Given the description of an element on the screen output the (x, y) to click on. 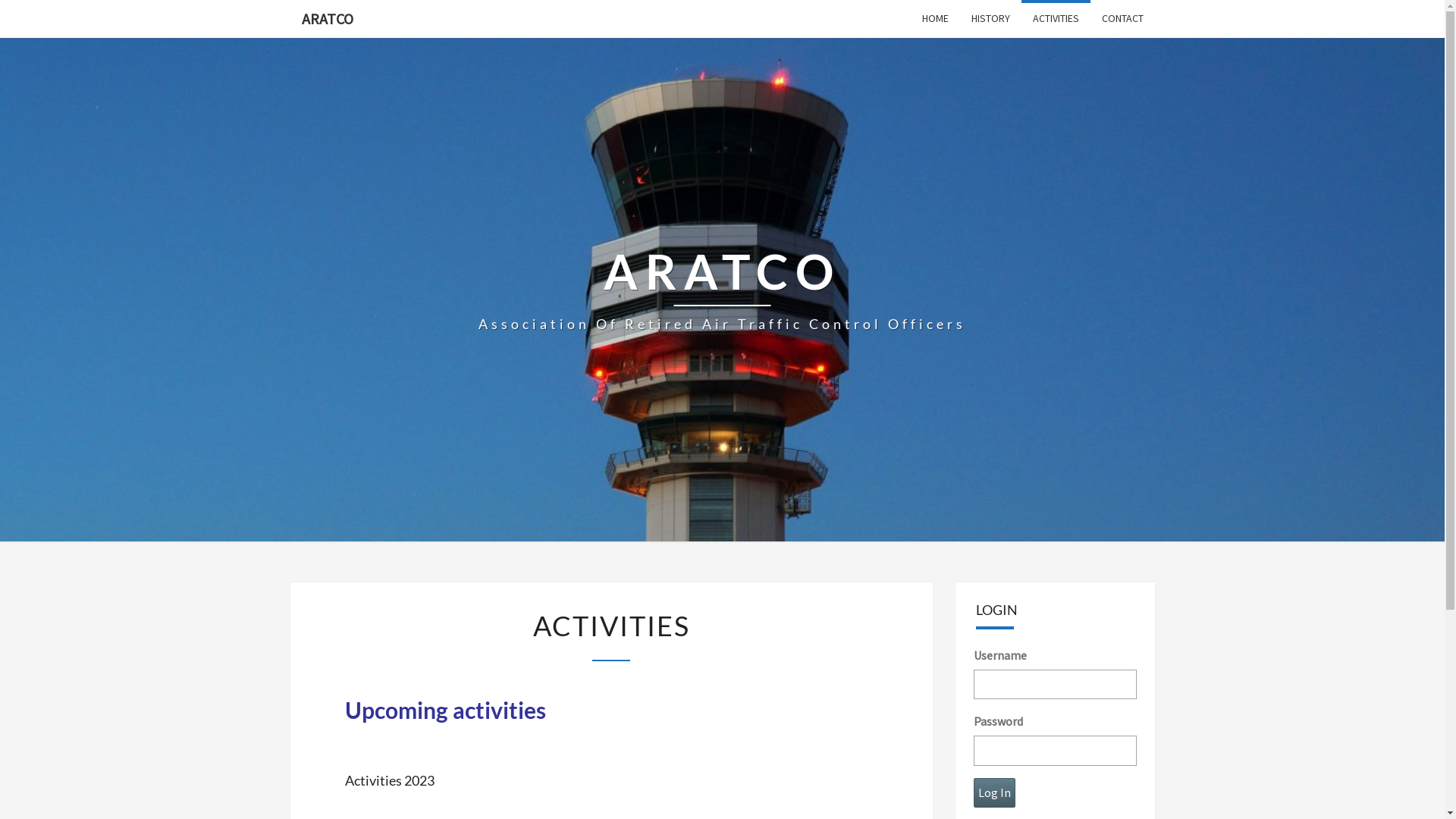
HISTORY Element type: text (990, 18)
ACTIVITIES Element type: text (1054, 18)
ARATCO Element type: text (326, 18)
HOME Element type: text (934, 18)
Log In Element type: text (994, 792)
ARATCO
Association Of Retired Air Traffic Control Officers Element type: text (722, 289)
CONTACT Element type: text (1122, 18)
